Given the description of an element on the screen output the (x, y) to click on. 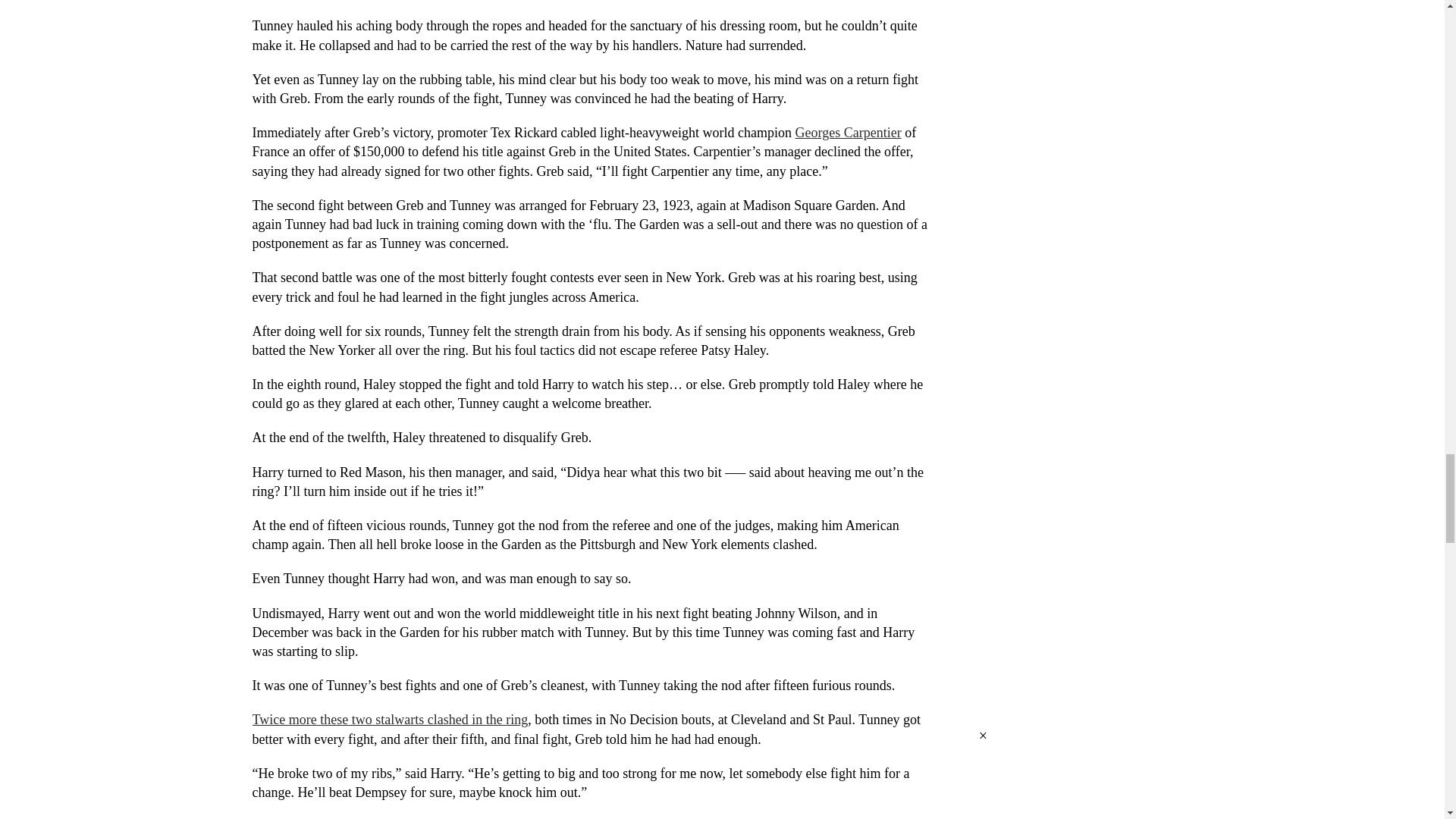
Georges Carpentier (847, 132)
Georges Carpentier (847, 132)
Twice more these two stalwarts clashed in the ring (389, 719)
